Given the description of an element on the screen output the (x, y) to click on. 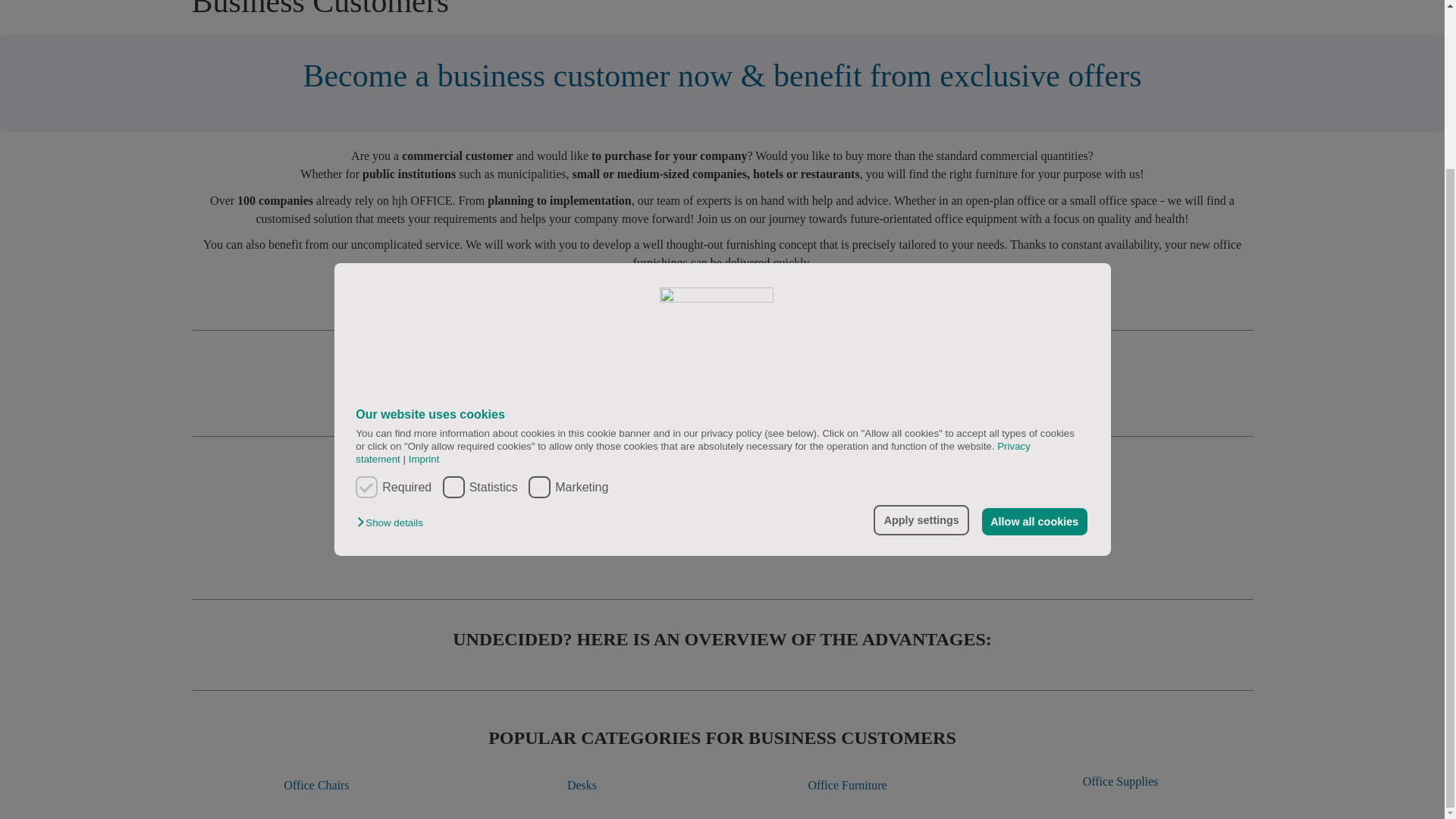
Privacy statement (692, 250)
Privacy statement (692, 250)
Imprint (421, 256)
Apply settings (921, 318)
Allow all cookies (1034, 319)
Imprint (421, 256)
Show details (392, 320)
